Given the description of an element on the screen output the (x, y) to click on. 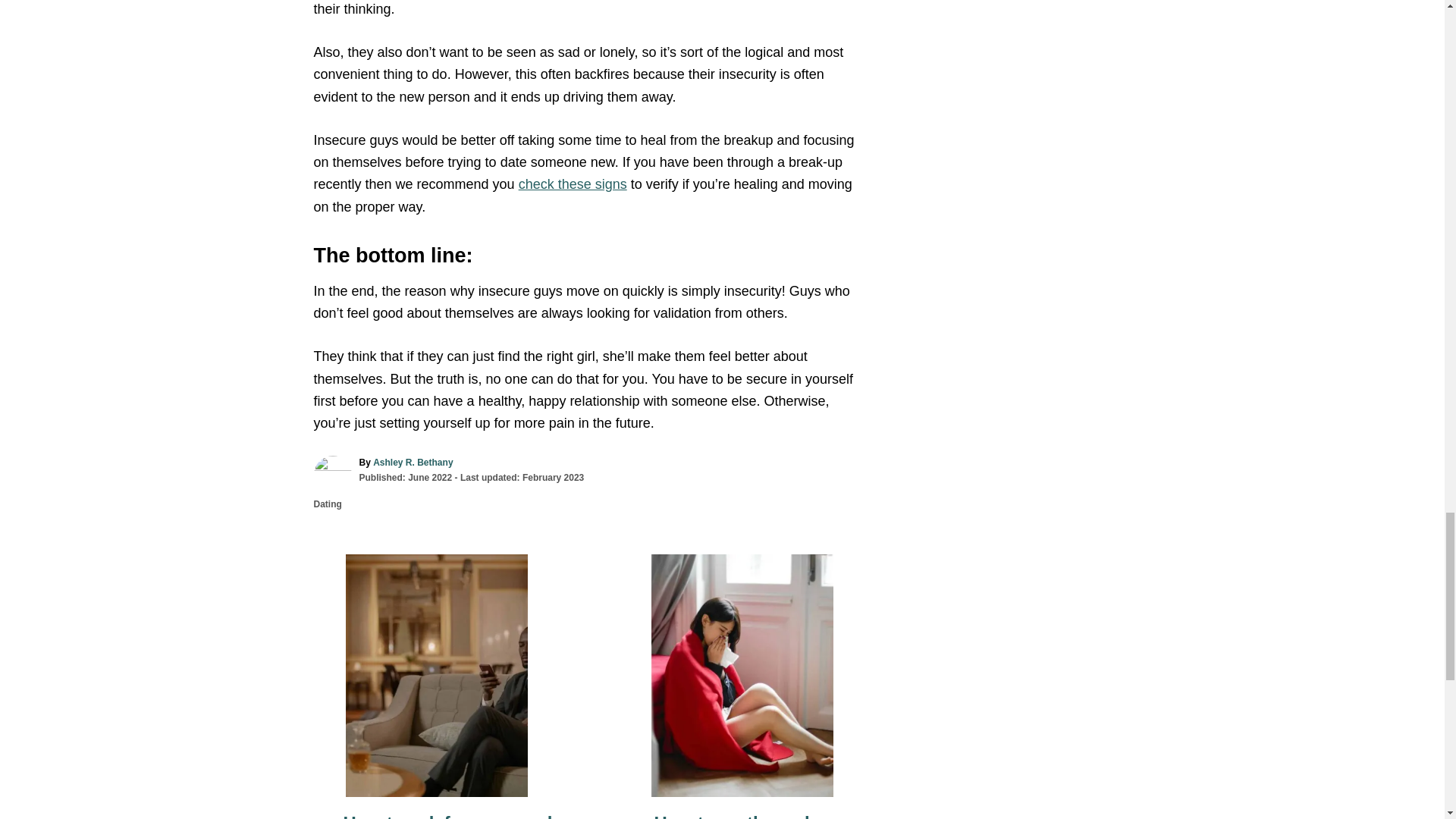
How to go through a divorce when you still love him? (741, 815)
Dating (328, 503)
check these signs (572, 183)
How to ask for a second chance the right way? (437, 815)
Ashley R. Bethany (412, 462)
